Given the description of an element on the screen output the (x, y) to click on. 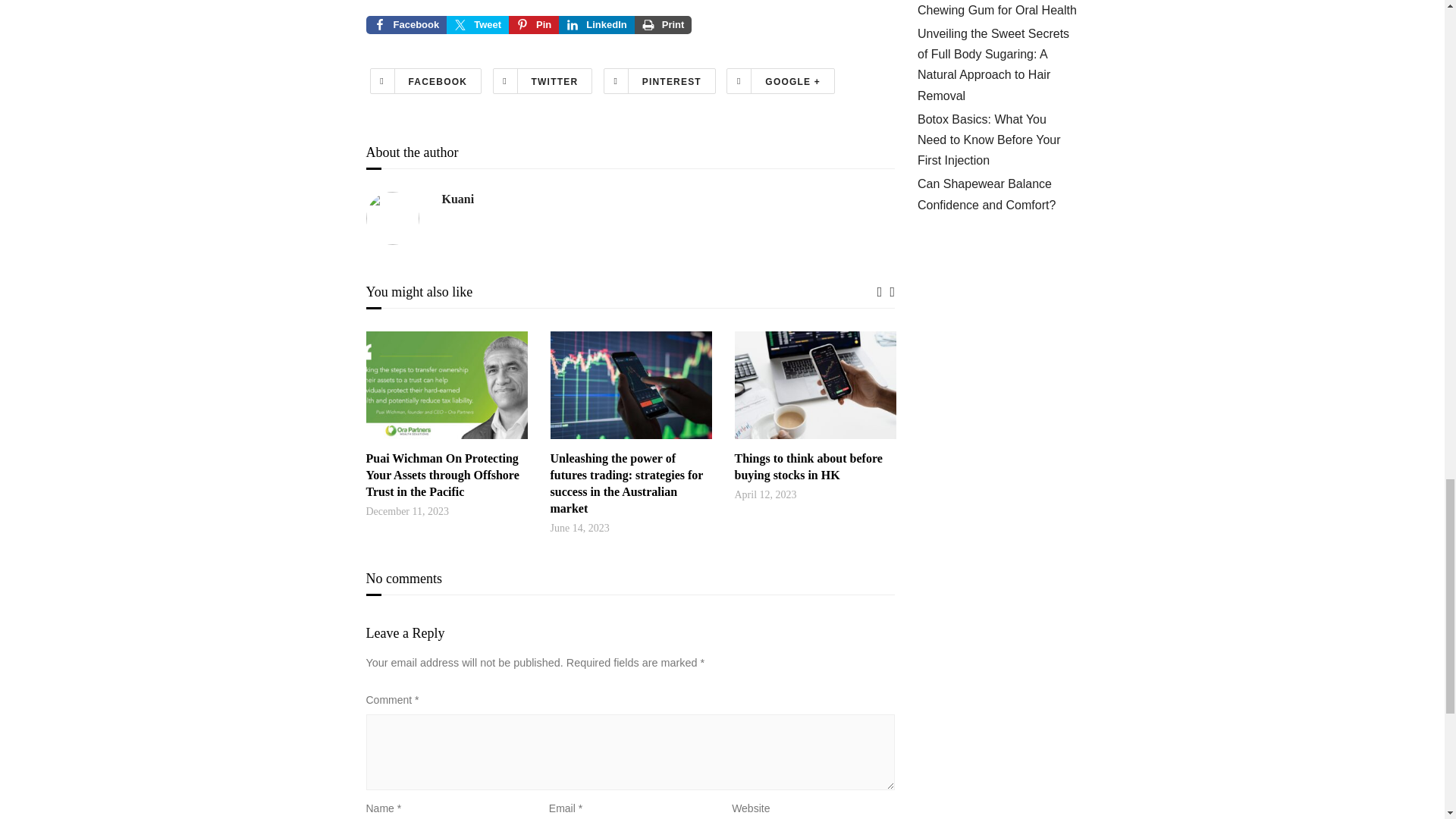
Share on Facebook (405, 24)
Share on Twitter (477, 24)
Posts by Kuani (457, 198)
Print this Page (663, 24)
Share on Pinterest (533, 24)
Share on LinkedIn (596, 24)
